Given the description of an element on the screen output the (x, y) to click on. 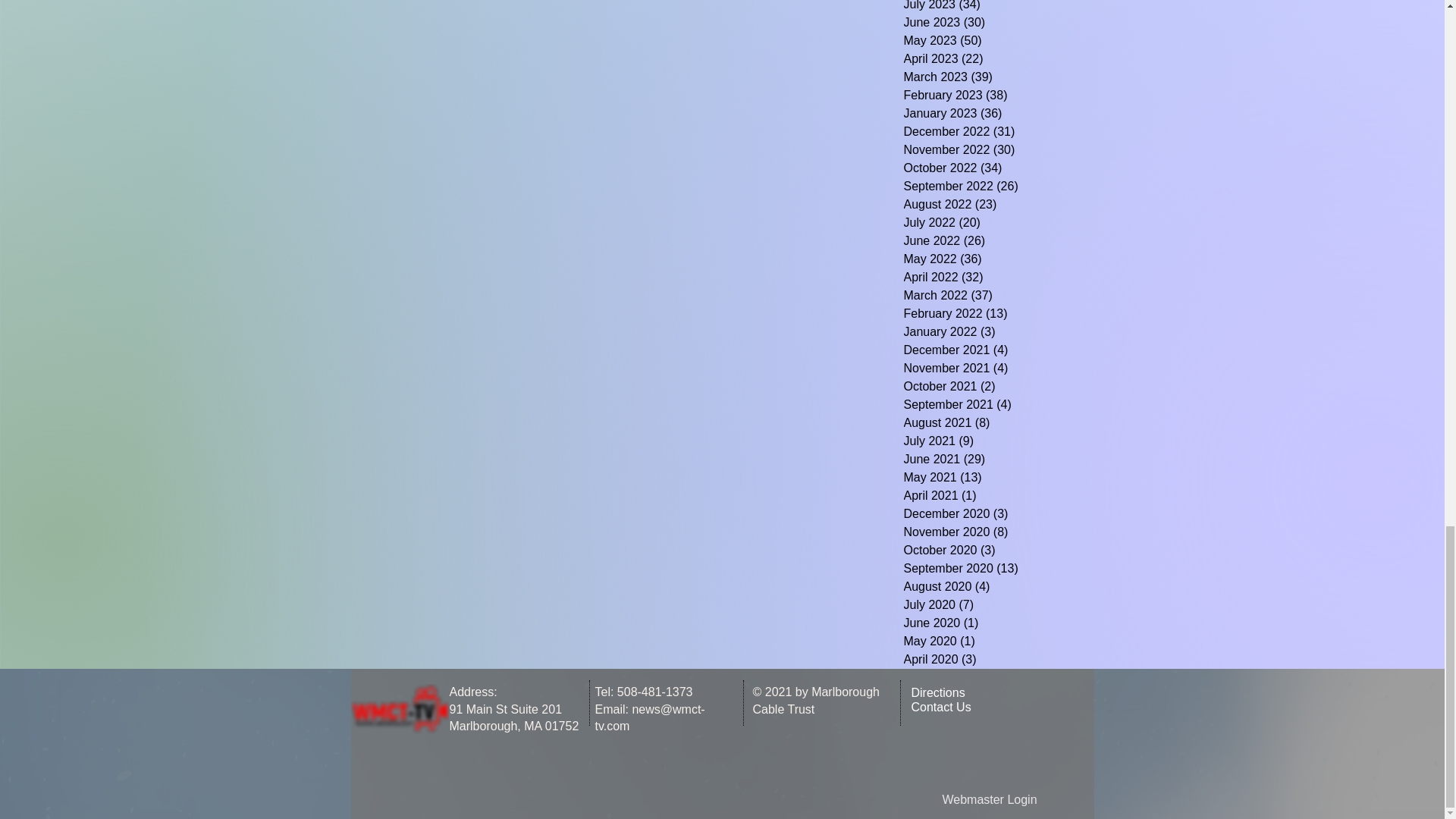
WMCT 2015 LOGO.png (399, 708)
